Given the description of an element on the screen output the (x, y) to click on. 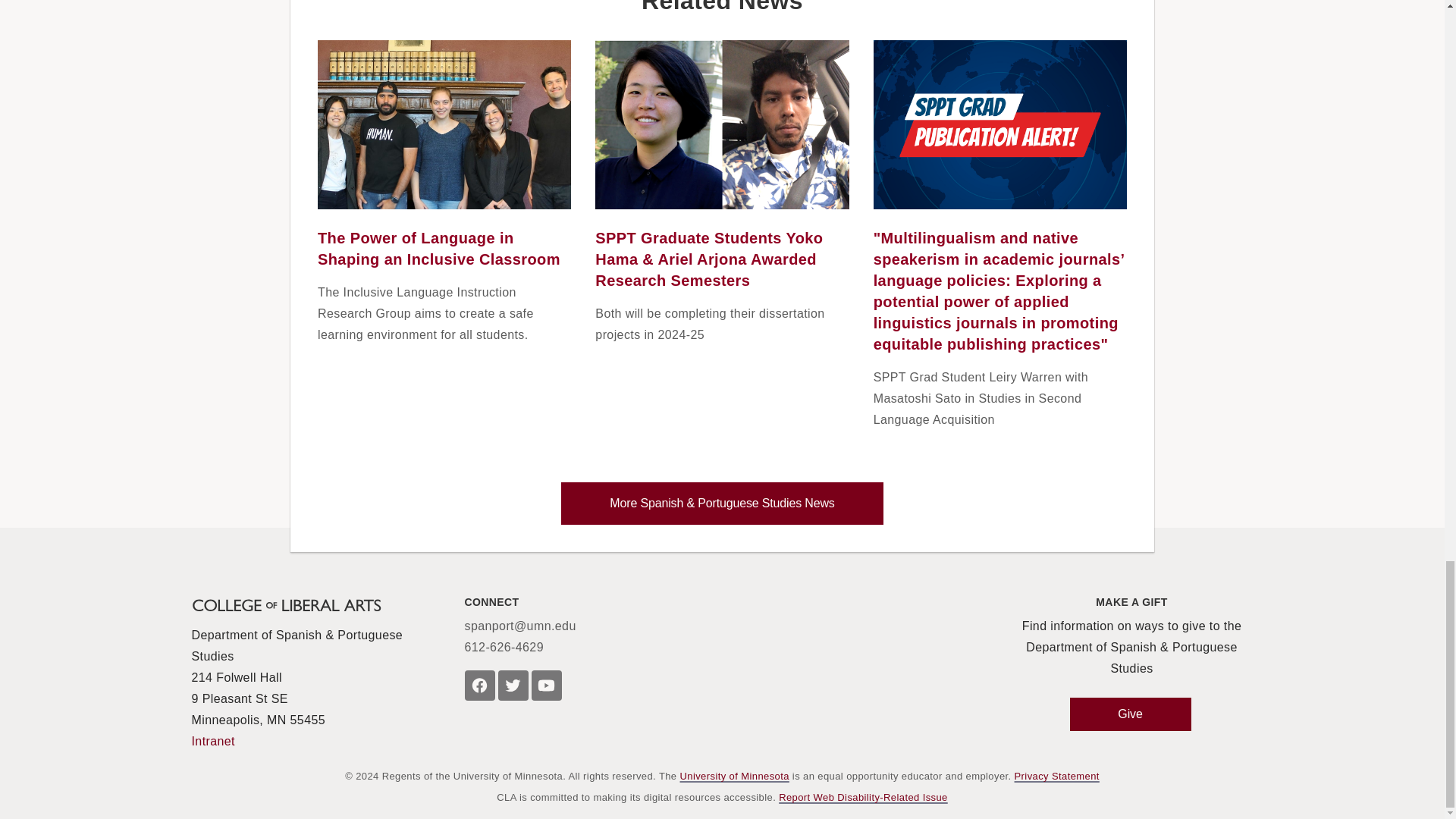
Give (1129, 714)
Intranet (212, 741)
Privacy Statement (1056, 776)
Report Web Disability-Related Issue (862, 797)
612-626-4629 (503, 647)
University of Minnesota (734, 776)
The Power of Language in Shaping an Inclusive Classroom (438, 248)
